Given the description of an element on the screen output the (x, y) to click on. 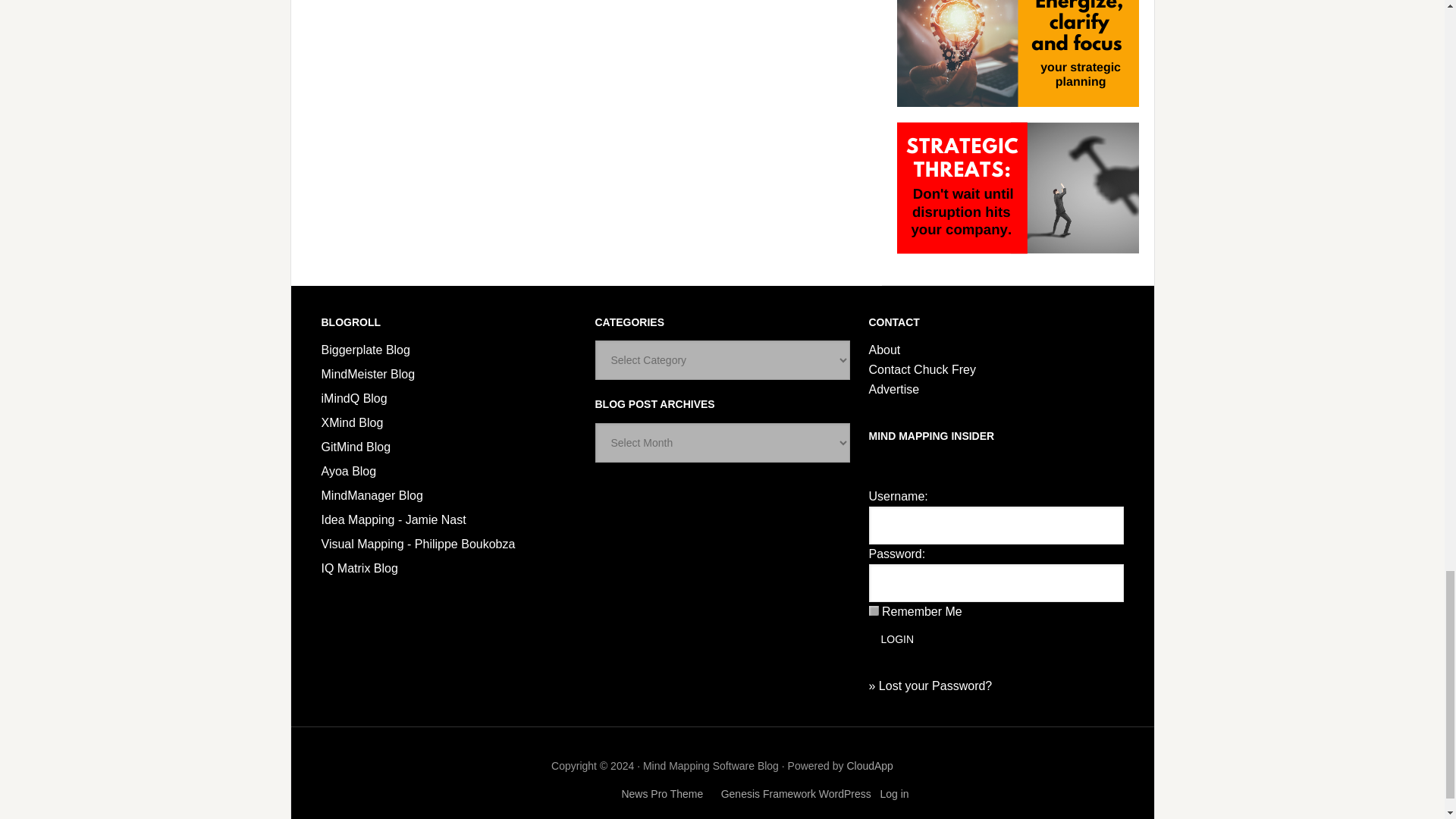
forever (874, 610)
CloudApp (869, 766)
Login (897, 638)
